Given the description of an element on the screen output the (x, y) to click on. 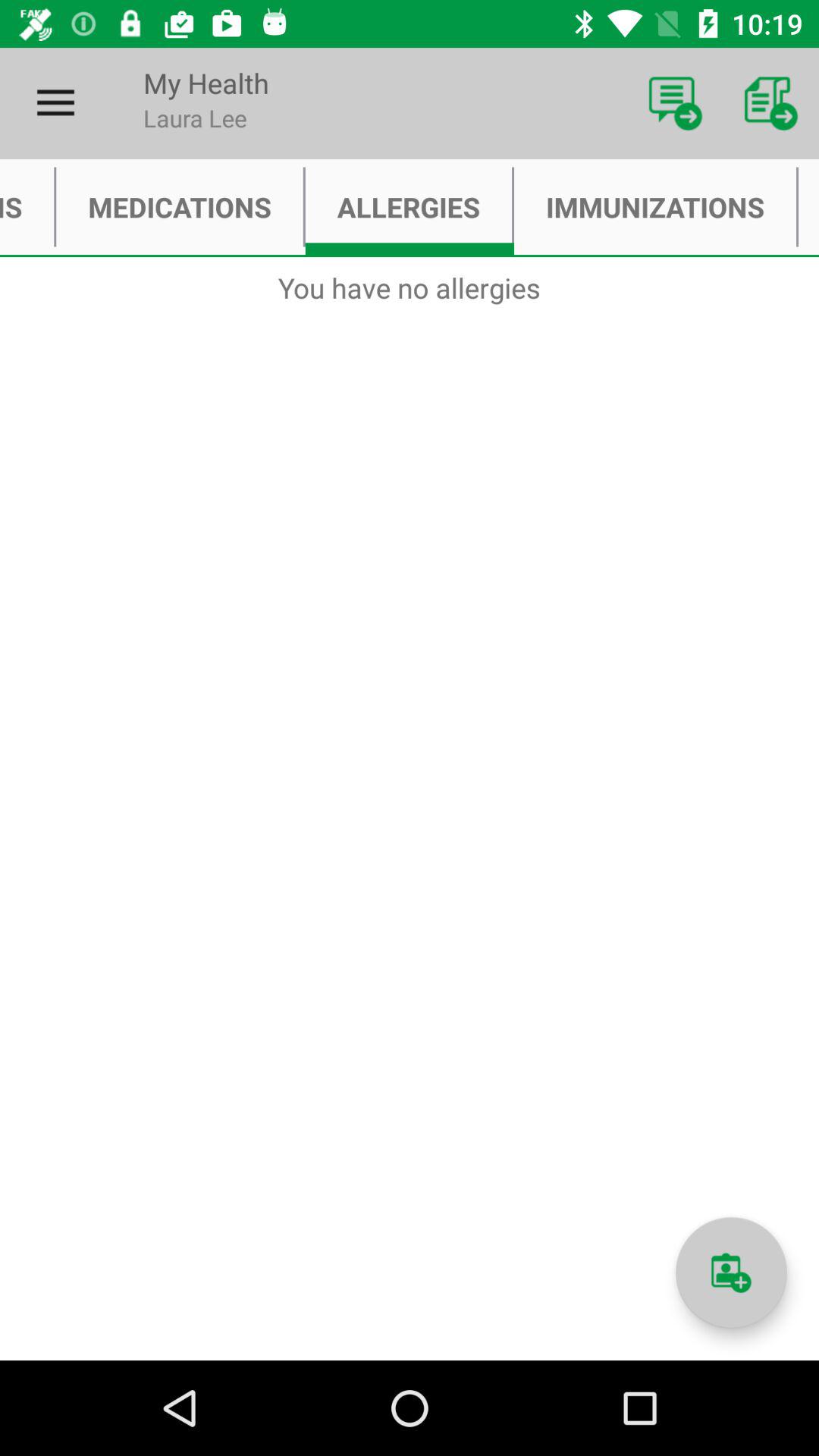
turn off item to the right of my health item (675, 103)
